Given the description of an element on the screen output the (x, y) to click on. 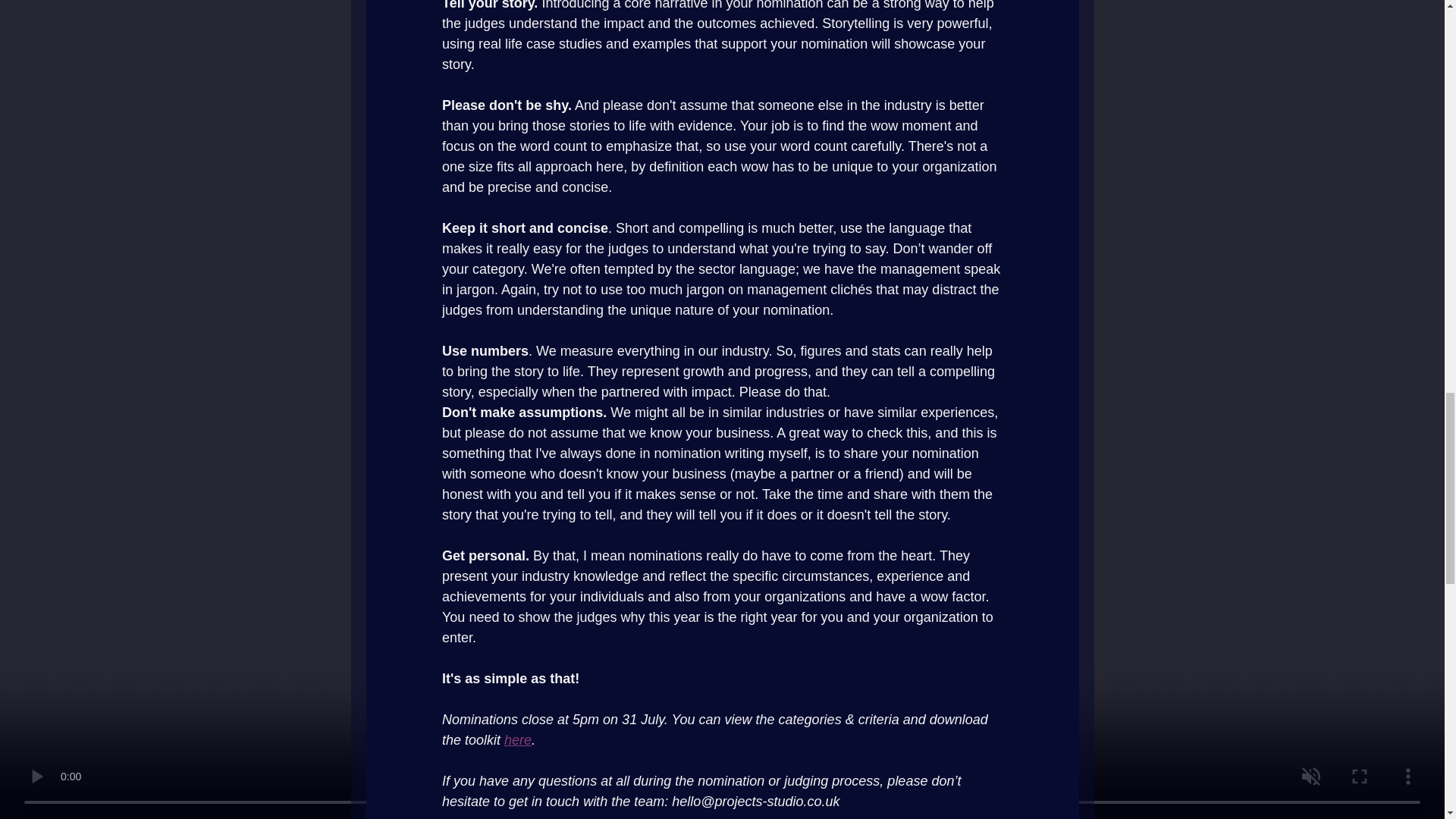
here (517, 739)
